Given the description of an element on the screen output the (x, y) to click on. 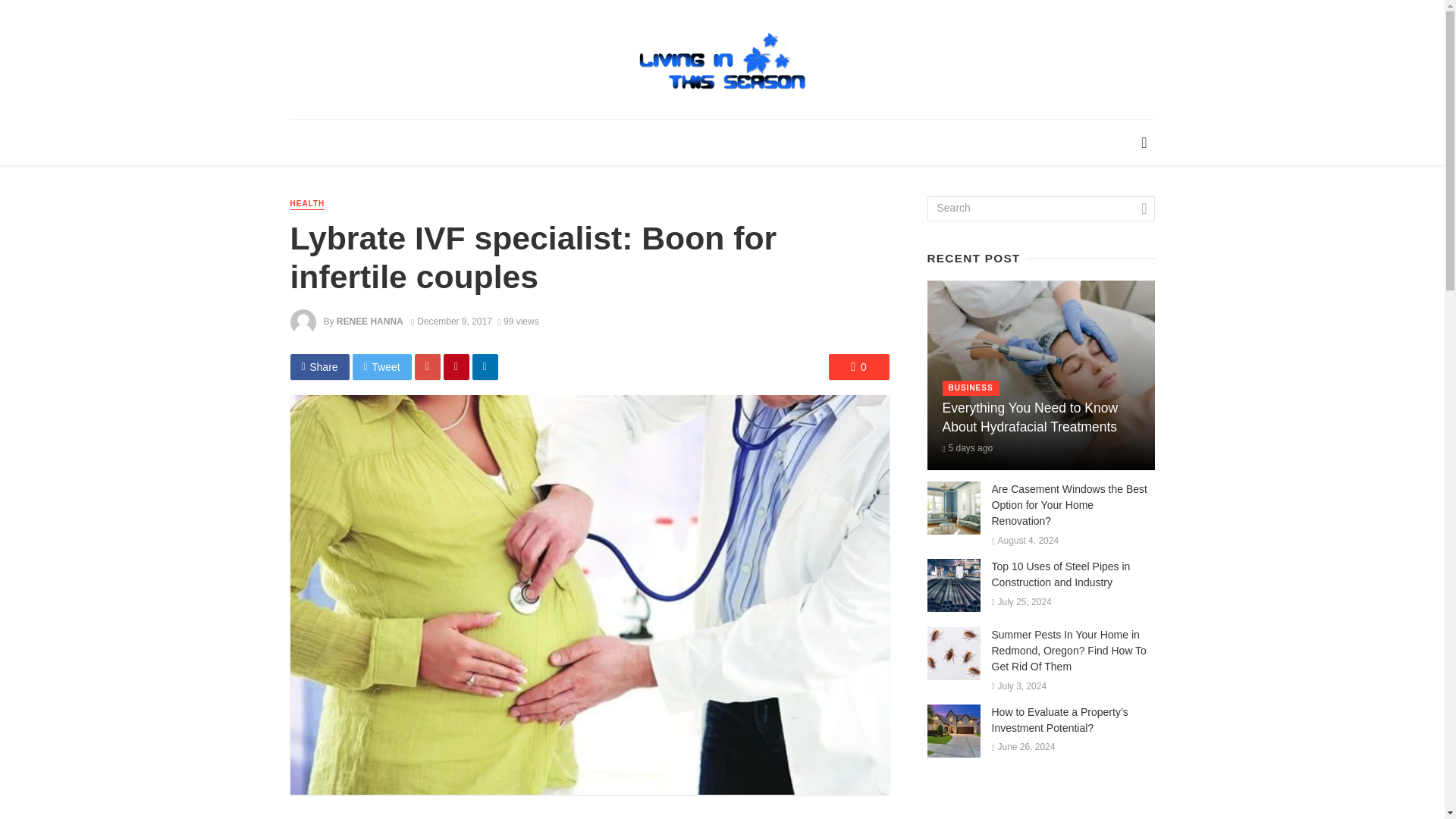
Share on Facebook (319, 366)
HEALTH (306, 204)
0 Comments (858, 366)
Everything You Need to Know About Hydrafacial Treatments (1040, 416)
July 25, 2024 at 3:13 pm (1021, 602)
Share on Linkedin (484, 366)
Top 10 Uses of Steel Pipes in Construction and Industry (1072, 574)
Share on Pinterest (456, 366)
